Given the description of an element on the screen output the (x, y) to click on. 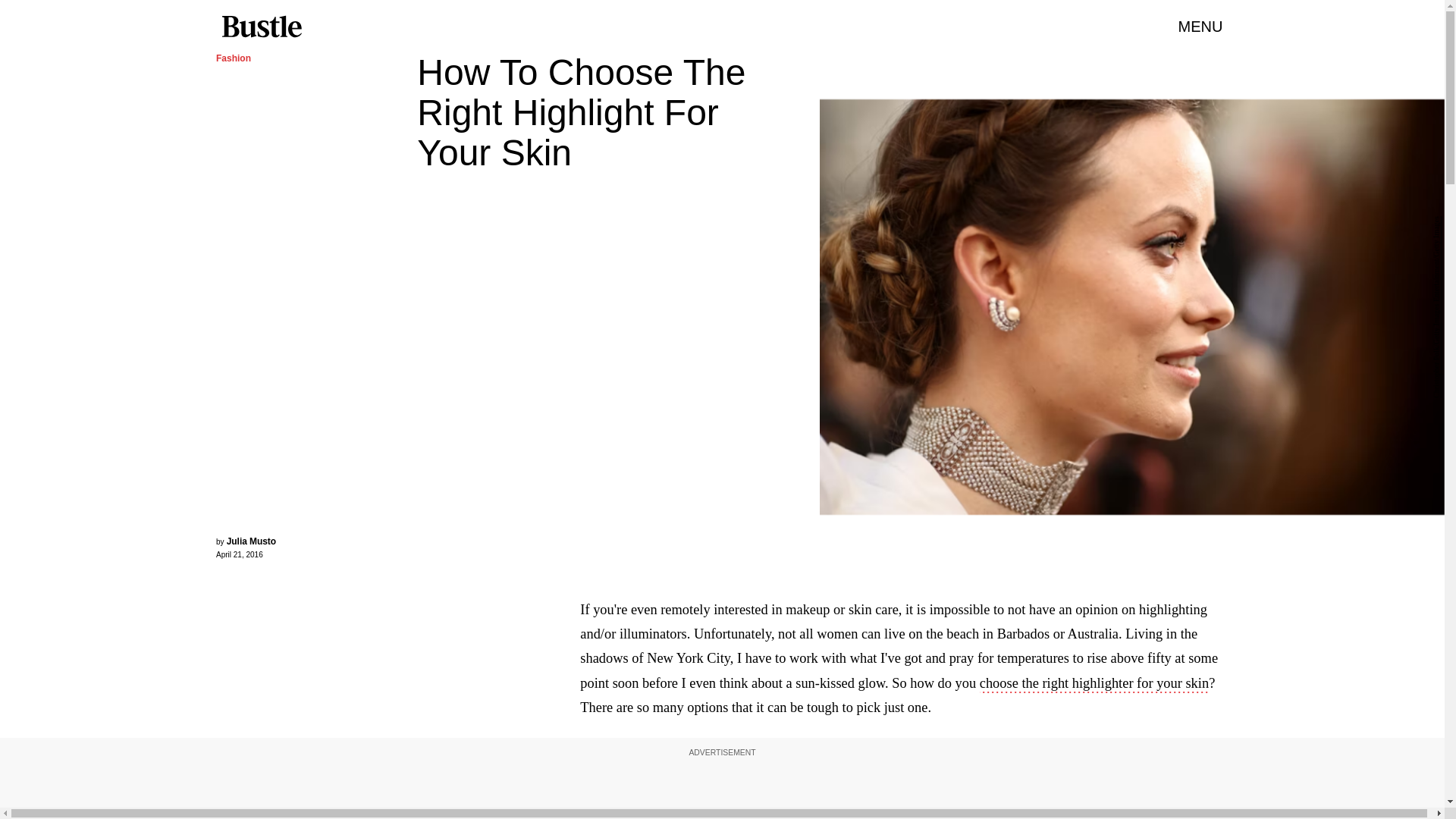
Bustle (261, 26)
choose the right highlighter for your skin (1093, 684)
